Given the description of an element on the screen output the (x, y) to click on. 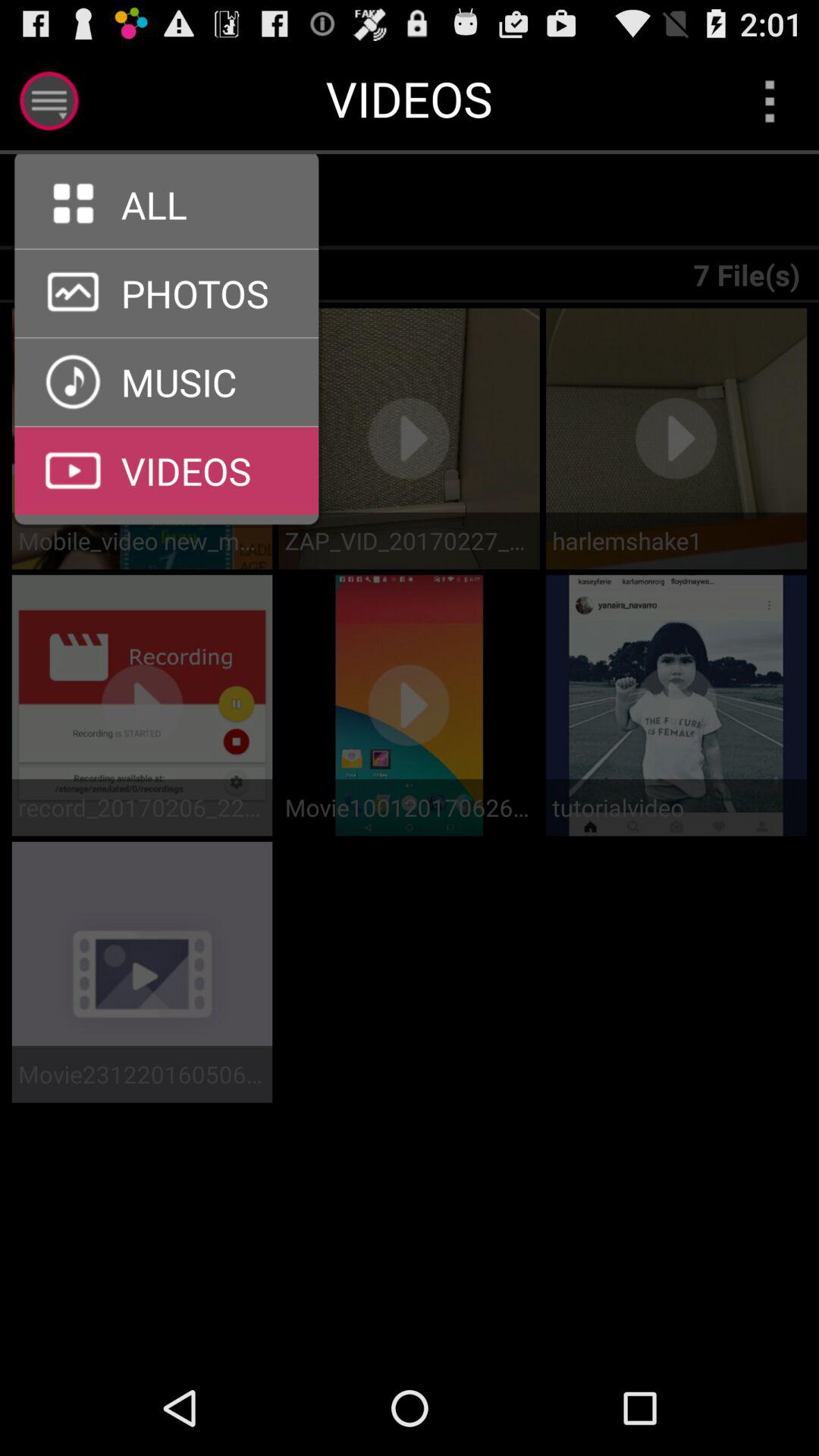
go to gallery (166, 337)
